Given the description of an element on the screen output the (x, y) to click on. 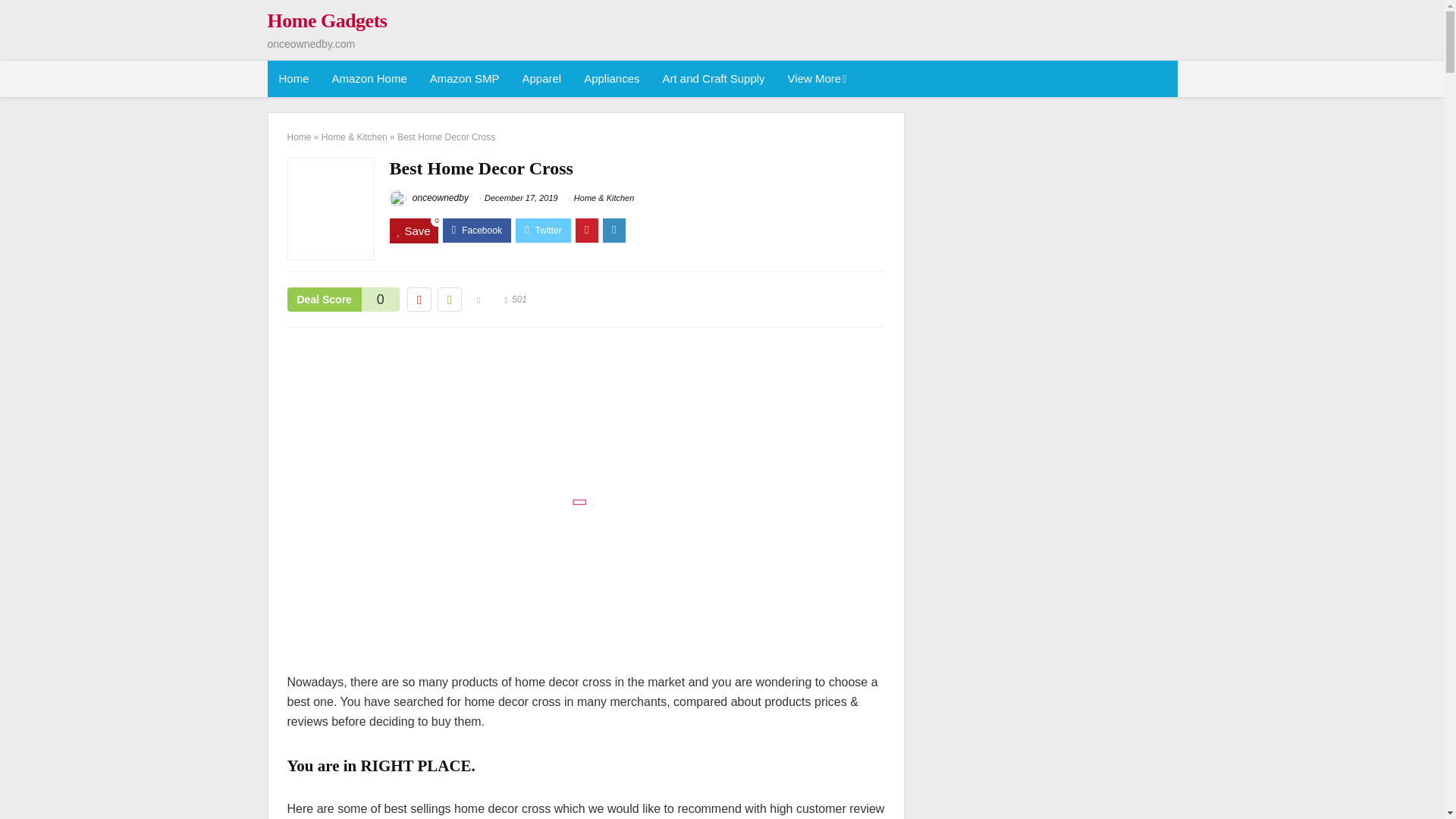
Amazon SMP (465, 78)
Apparel (541, 78)
Home (293, 78)
Appliances (611, 78)
Vote down (418, 299)
Amazon Home (369, 78)
Art and Craft Supply (713, 78)
View More (816, 78)
